Given the description of an element on the screen output the (x, y) to click on. 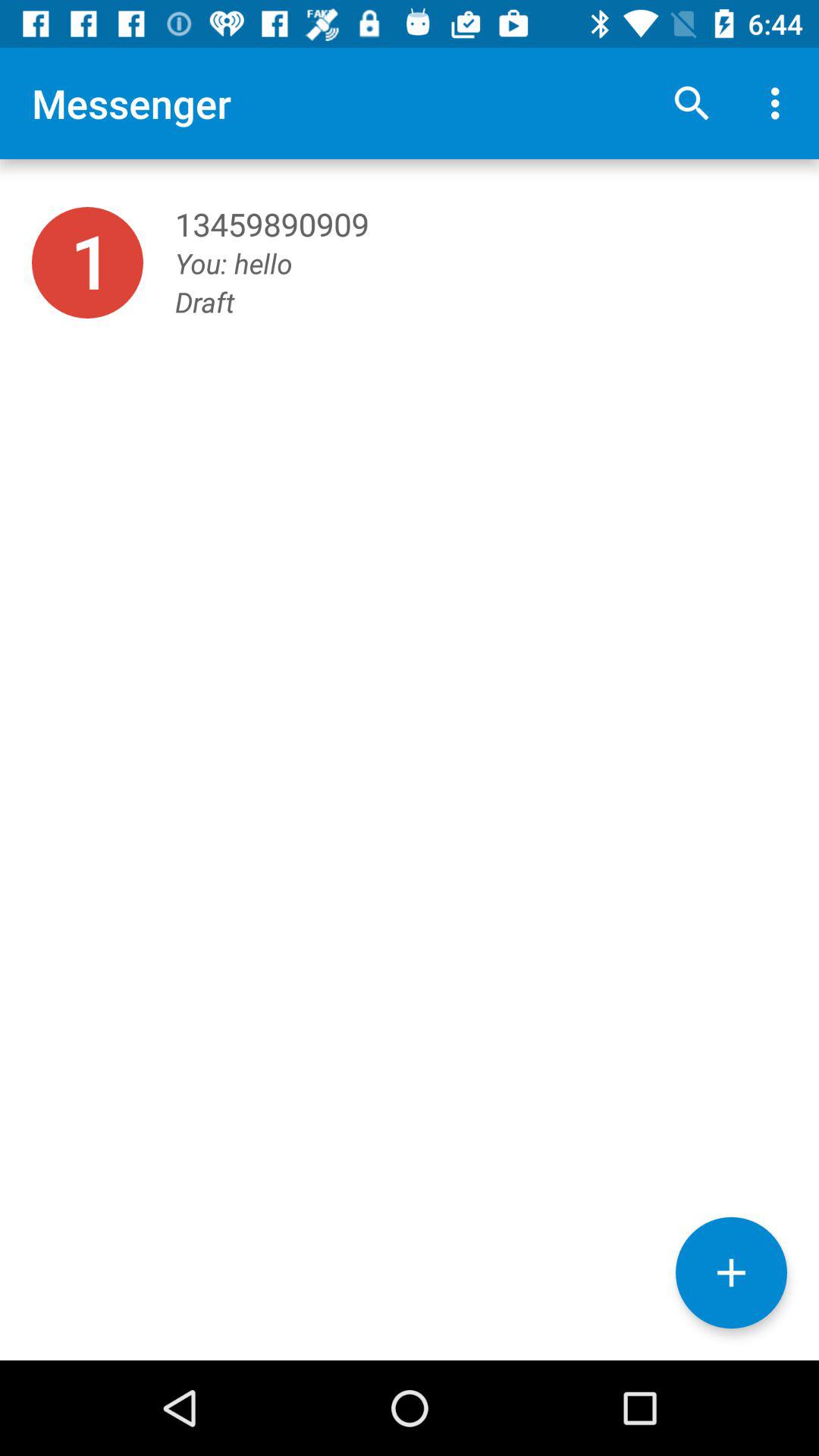
turn on icon next to messenger icon (691, 103)
